Given the description of an element on the screen output the (x, y) to click on. 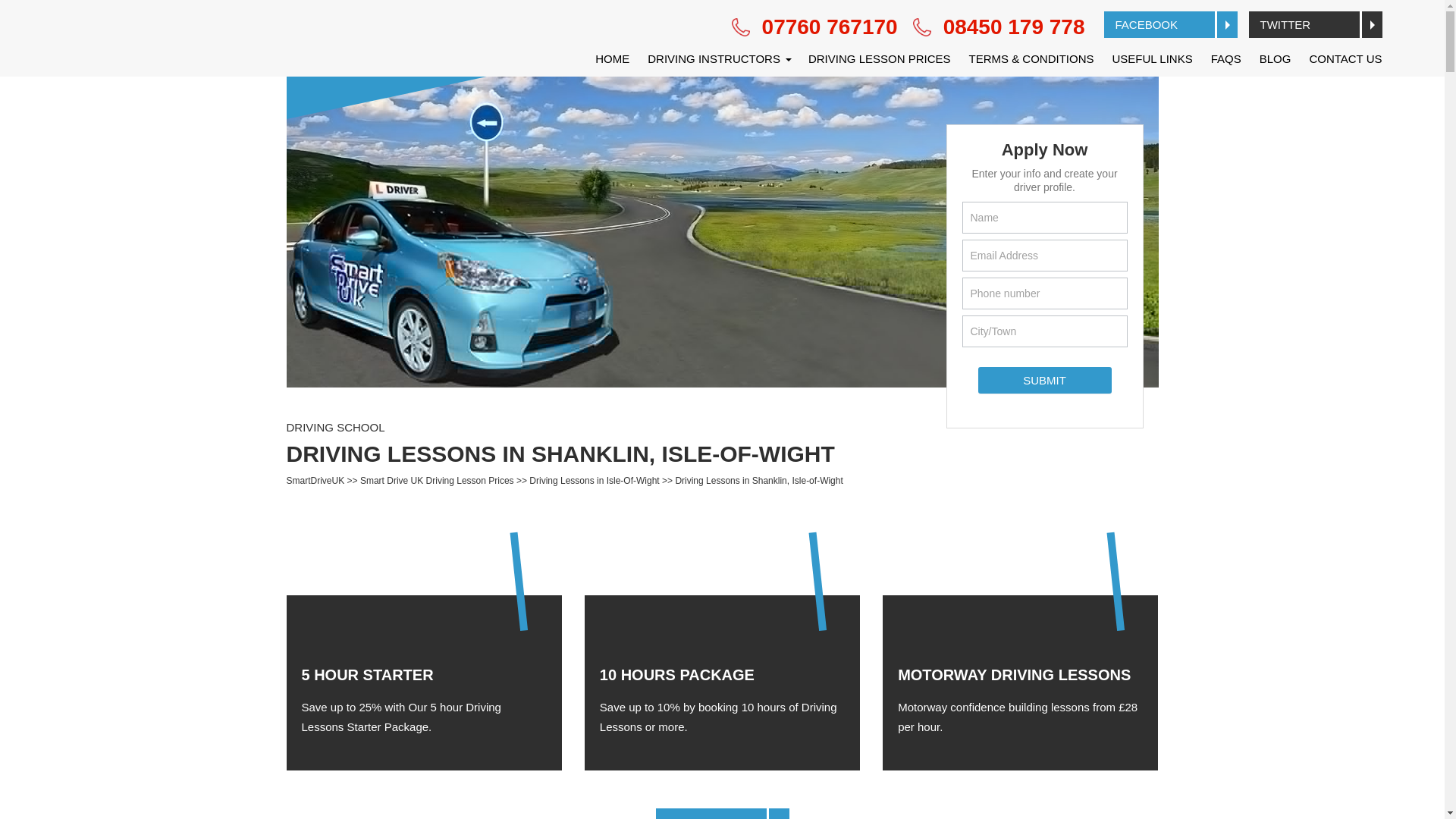
FAQS (1226, 58)
Smart Drive UK Driving Lesson Prices (436, 480)
BLOG (1275, 58)
CONTACT US (1340, 58)
08450 179 778 (998, 27)
SmartDriveUK (315, 480)
TWITTER (1314, 24)
DRIVING INSTRUCTORS (719, 58)
FACEBOOK (1170, 24)
DRIVING LESSON PRICES (879, 58)
USEFUL LINKS (1152, 58)
SmartDriveUK (315, 480)
Smart Drive UK Driving Lesson Prices (436, 480)
HOME (612, 58)
Driving Lessons in Isle-Of-Wight (594, 480)
